Given the description of an element on the screen output the (x, y) to click on. 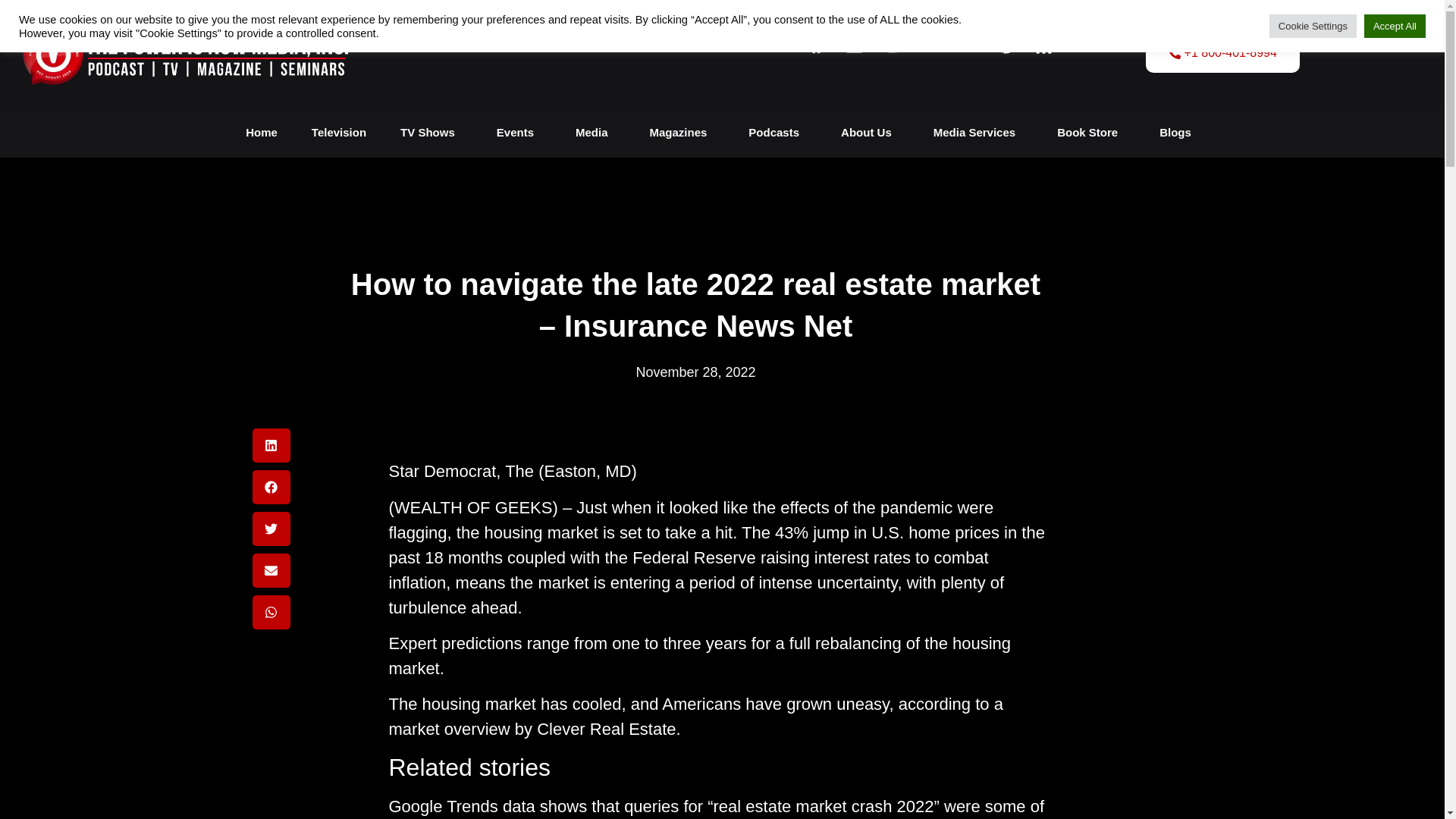
Home (261, 132)
Television (339, 132)
TV Shows (431, 132)
